Given the description of an element on the screen output the (x, y) to click on. 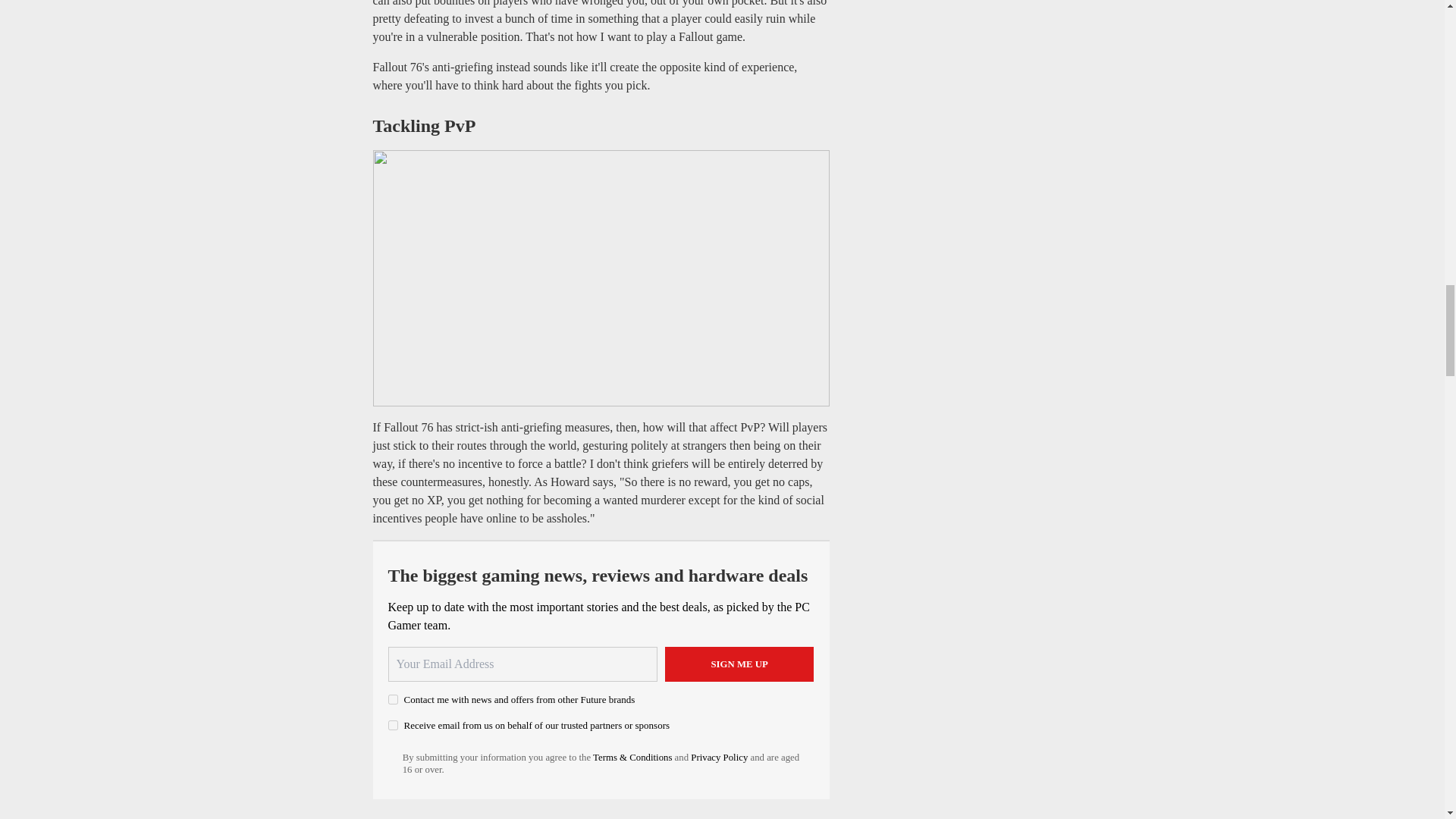
on (392, 725)
Sign me up (739, 664)
on (392, 699)
